Given the description of an element on the screen output the (x, y) to click on. 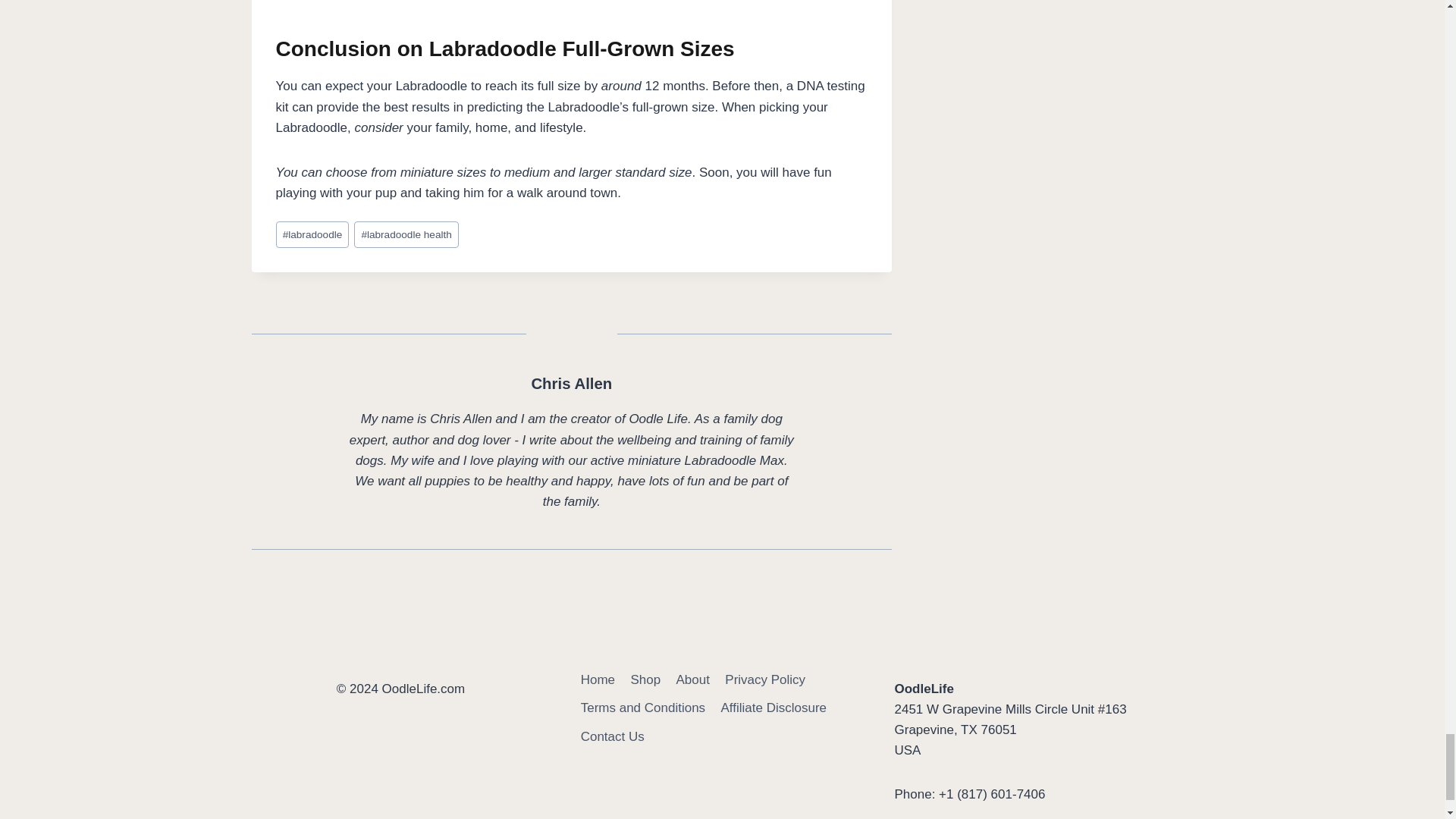
labradoodle health (405, 234)
Posts by Chris Allen (571, 383)
labradoodle (312, 234)
